Given the description of an element on the screen output the (x, y) to click on. 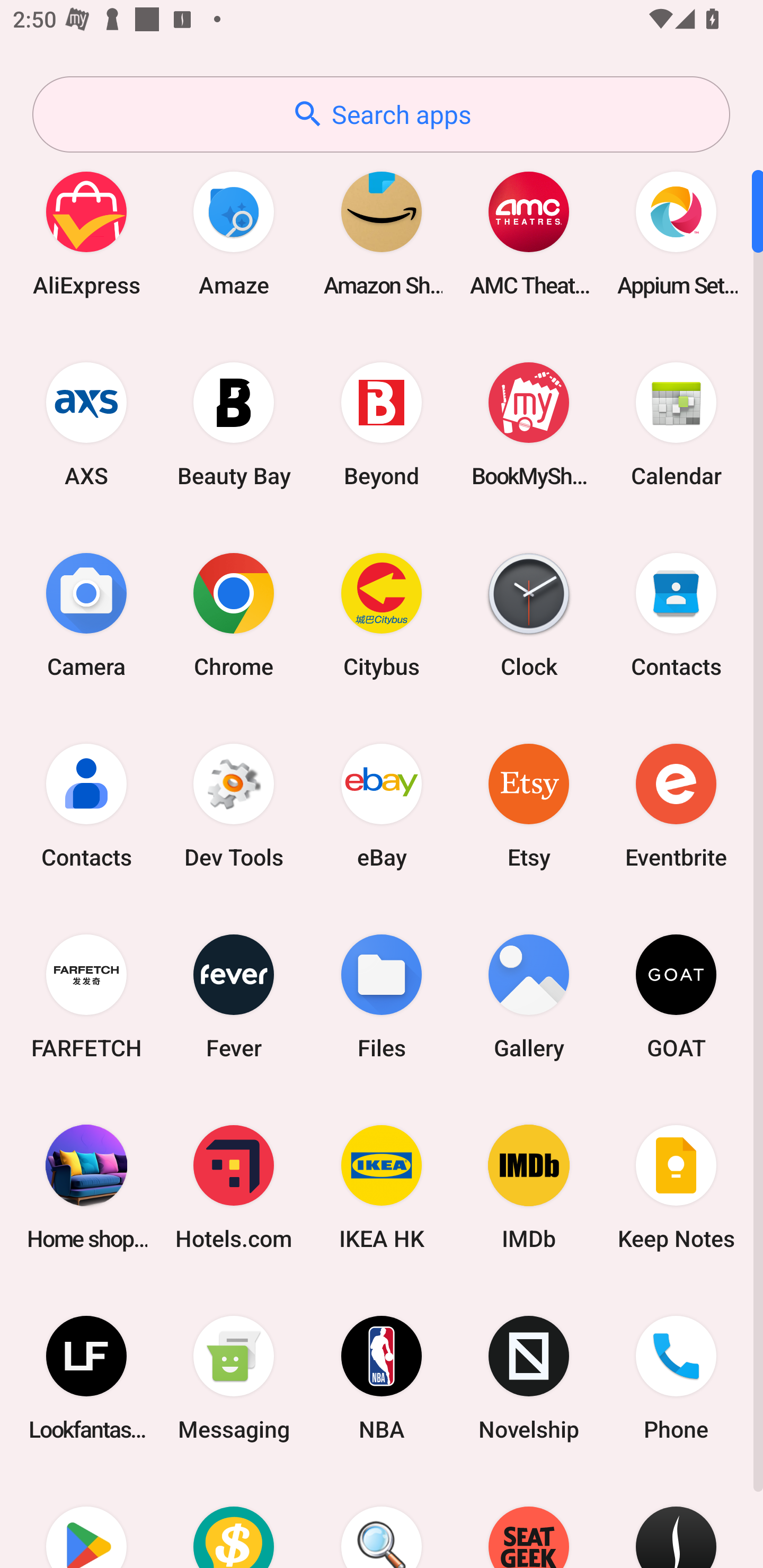
  Search apps (381, 114)
AliExpress (86, 233)
Amaze (233, 233)
Amazon Shopping (381, 233)
AMC Theatres (528, 233)
Appium Settings (676, 233)
AXS (86, 424)
Beauty Bay (233, 424)
Beyond (381, 424)
BookMyShow (528, 424)
Calendar (676, 424)
Camera (86, 614)
Chrome (233, 614)
Citybus (381, 614)
Clock (528, 614)
Contacts (676, 614)
Contacts (86, 805)
Dev Tools (233, 805)
eBay (381, 805)
Etsy (528, 805)
Eventbrite (676, 805)
FARFETCH (86, 996)
Fever (233, 996)
Files (381, 996)
Gallery (528, 996)
GOAT (676, 996)
Home shopping (86, 1186)
Hotels.com (233, 1186)
IKEA HK (381, 1186)
IMDb (528, 1186)
Keep Notes (676, 1186)
Lookfantastic (86, 1377)
Messaging (233, 1377)
NBA (381, 1377)
Novelship (528, 1377)
Phone (676, 1377)
Play Store (86, 1520)
Price (233, 1520)
Search (381, 1520)
SeatGeek (528, 1520)
Sephora (676, 1520)
